Given the description of an element on the screen output the (x, y) to click on. 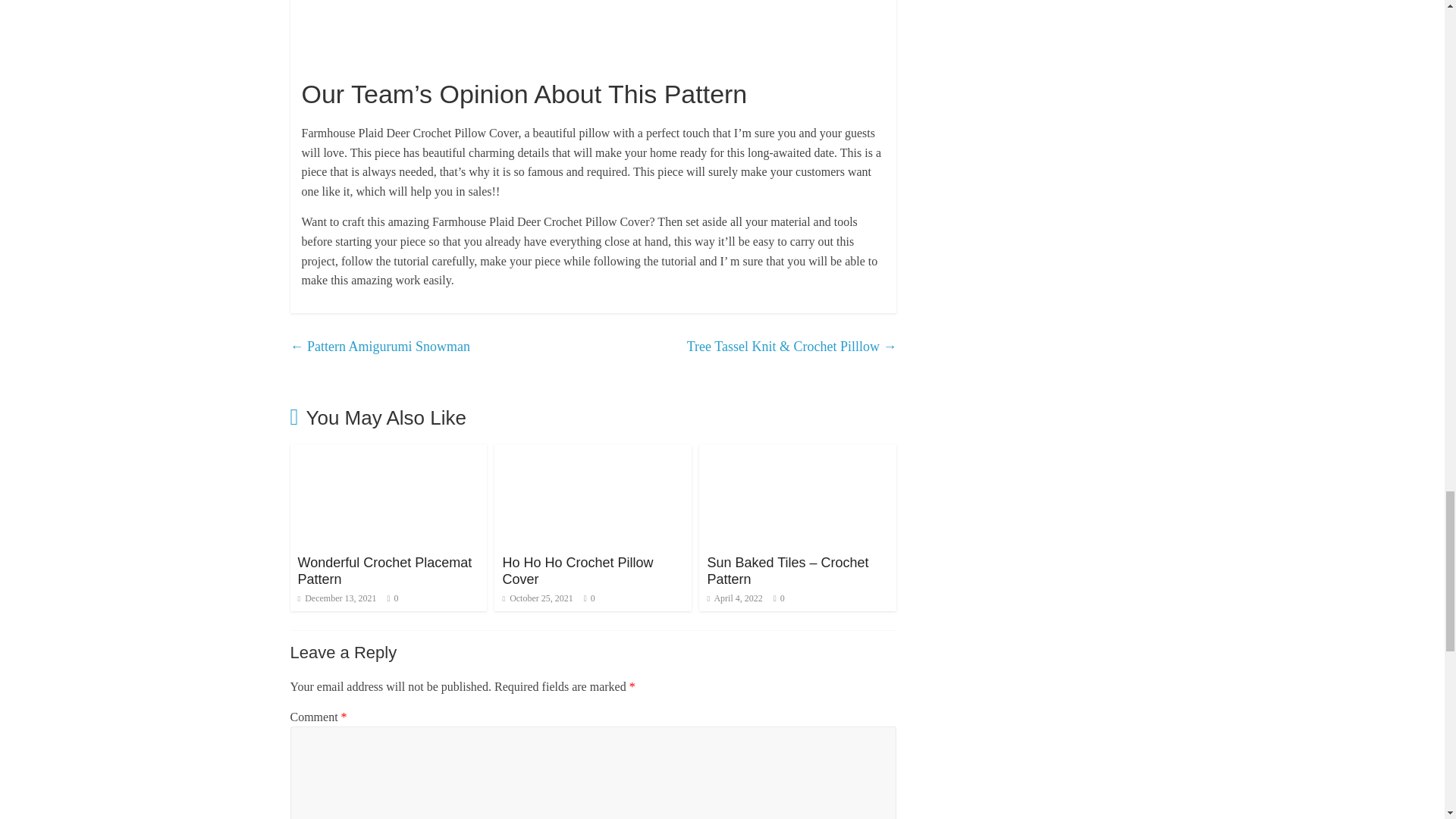
Ho Ho Ho Crochet Pillow Cover (577, 571)
Ho Ho Ho Crochet Pillow Cover (577, 571)
8:30 pm (537, 597)
Wonderful Crochet Placemat Pattern (384, 571)
5:02 pm (733, 597)
9:19 pm (336, 597)
Wonderful Crochet Placemat Pattern (387, 453)
Ho Ho Ho Crochet Pillow Cover (593, 453)
December 13, 2021 (336, 597)
Wonderful Crochet Placemat Pattern (384, 571)
